Given the description of an element on the screen output the (x, y) to click on. 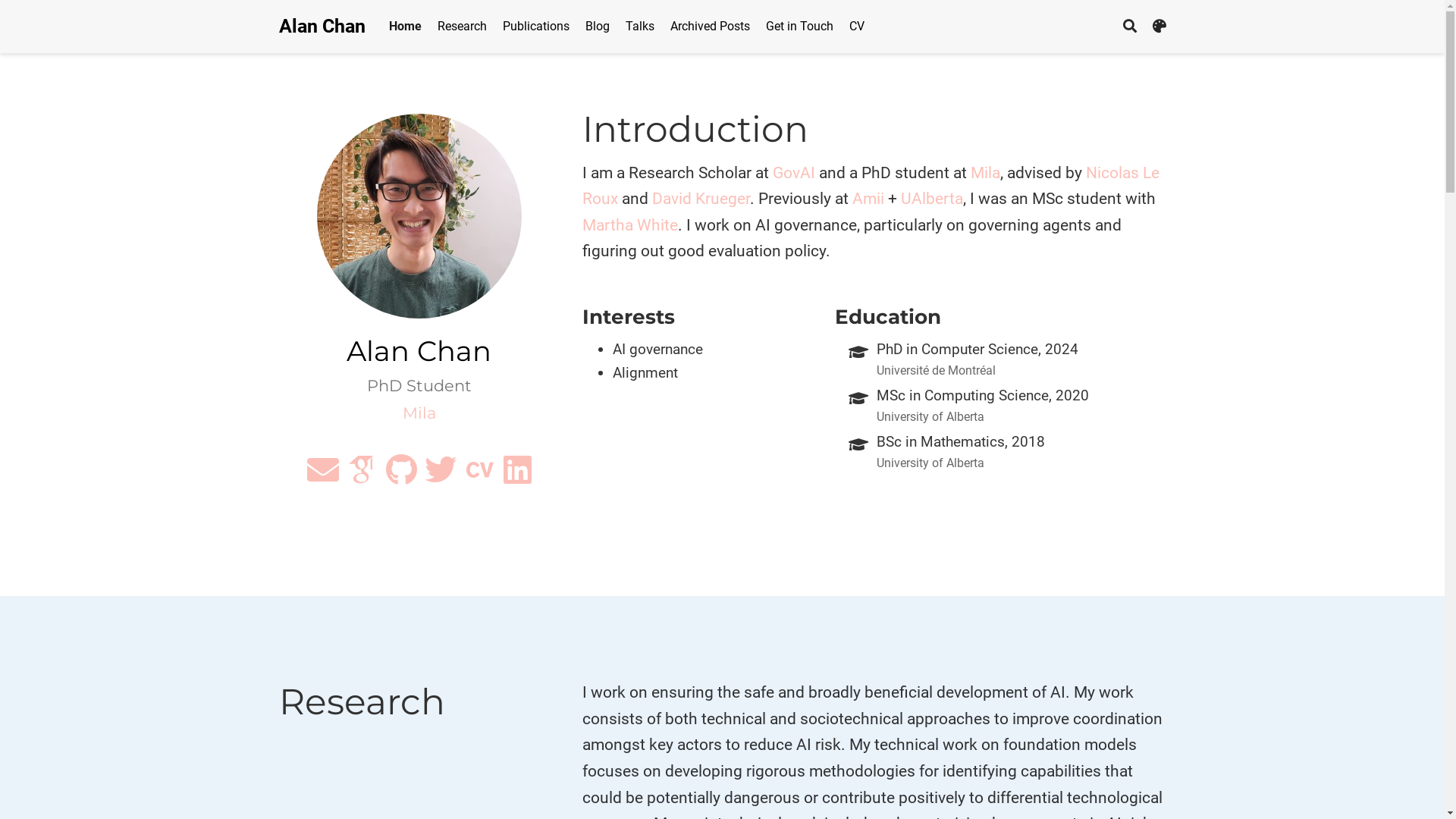
UAlberta Element type: text (931, 198)
Amii Element type: text (868, 198)
Research Element type: text (461, 25)
Home Element type: text (404, 25)
Martha White Element type: text (629, 225)
Get in Touch Element type: text (799, 25)
Mila Element type: text (418, 412)
Publications Element type: text (535, 25)
CV Element type: text (856, 25)
Mila Element type: text (985, 172)
David Krueger Element type: text (700, 198)
Nicolas Le Roux Element type: text (870, 185)
GovAI Element type: text (792, 172)
Archived Posts Element type: text (710, 25)
Alan Chan Element type: text (322, 26)
Talks Element type: text (639, 25)
Blog Element type: text (597, 25)
